Given the description of an element on the screen output the (x, y) to click on. 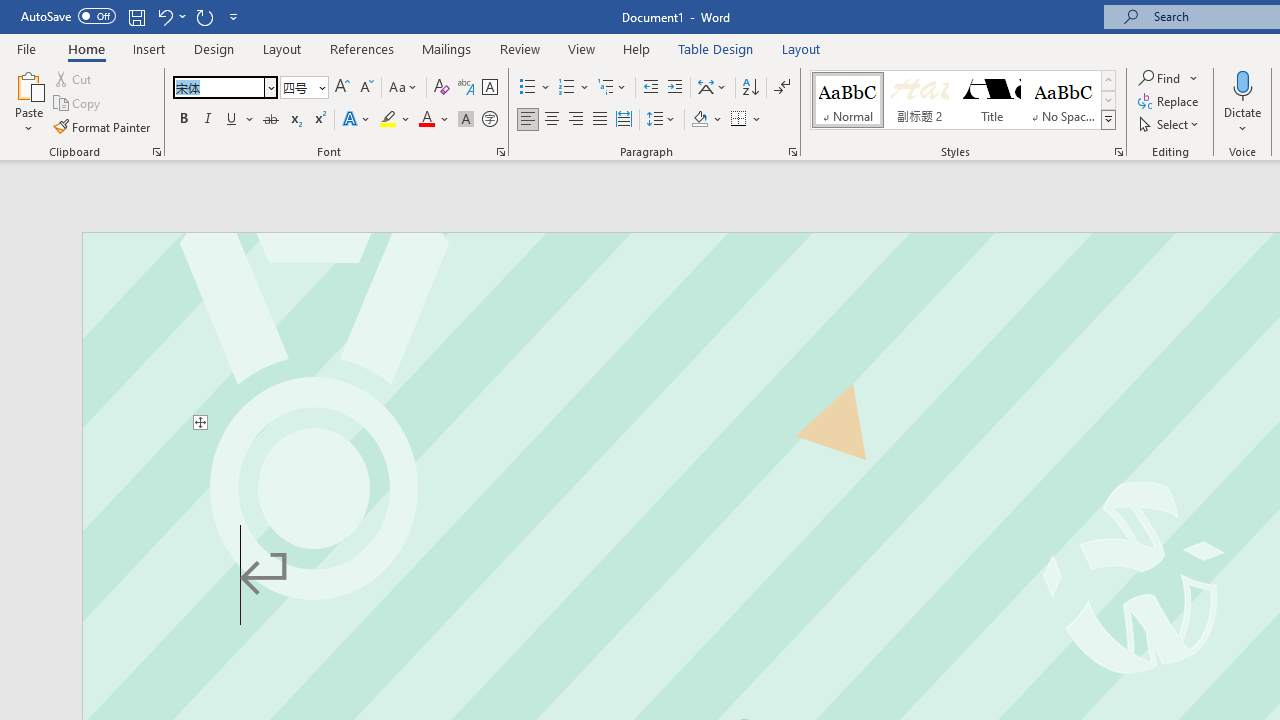
Undo Text Fill Effect (170, 15)
